Given the description of an element on the screen output the (x, y) to click on. 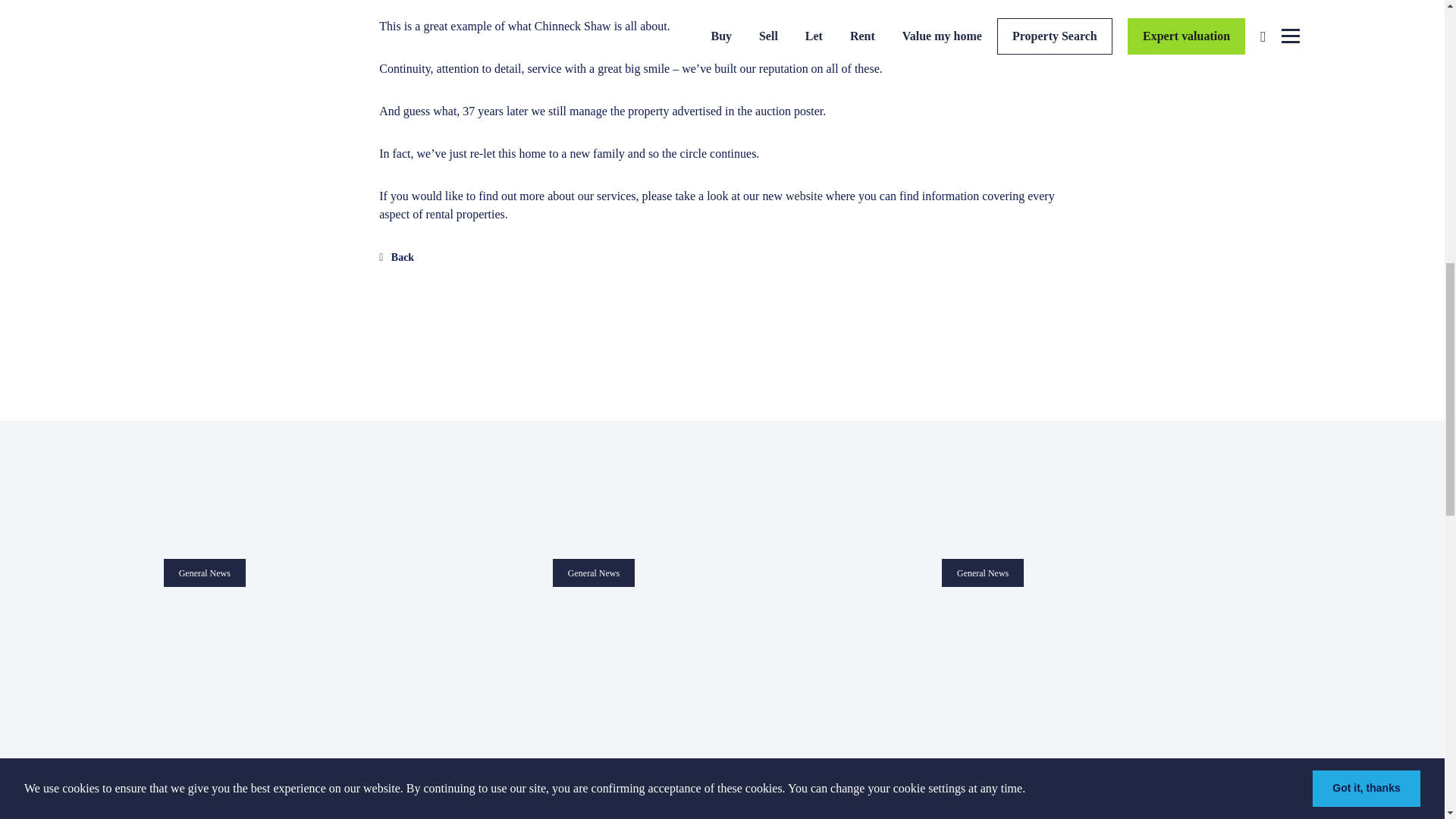
  Back (395, 256)
website (804, 195)
